Given the description of an element on the screen output the (x, y) to click on. 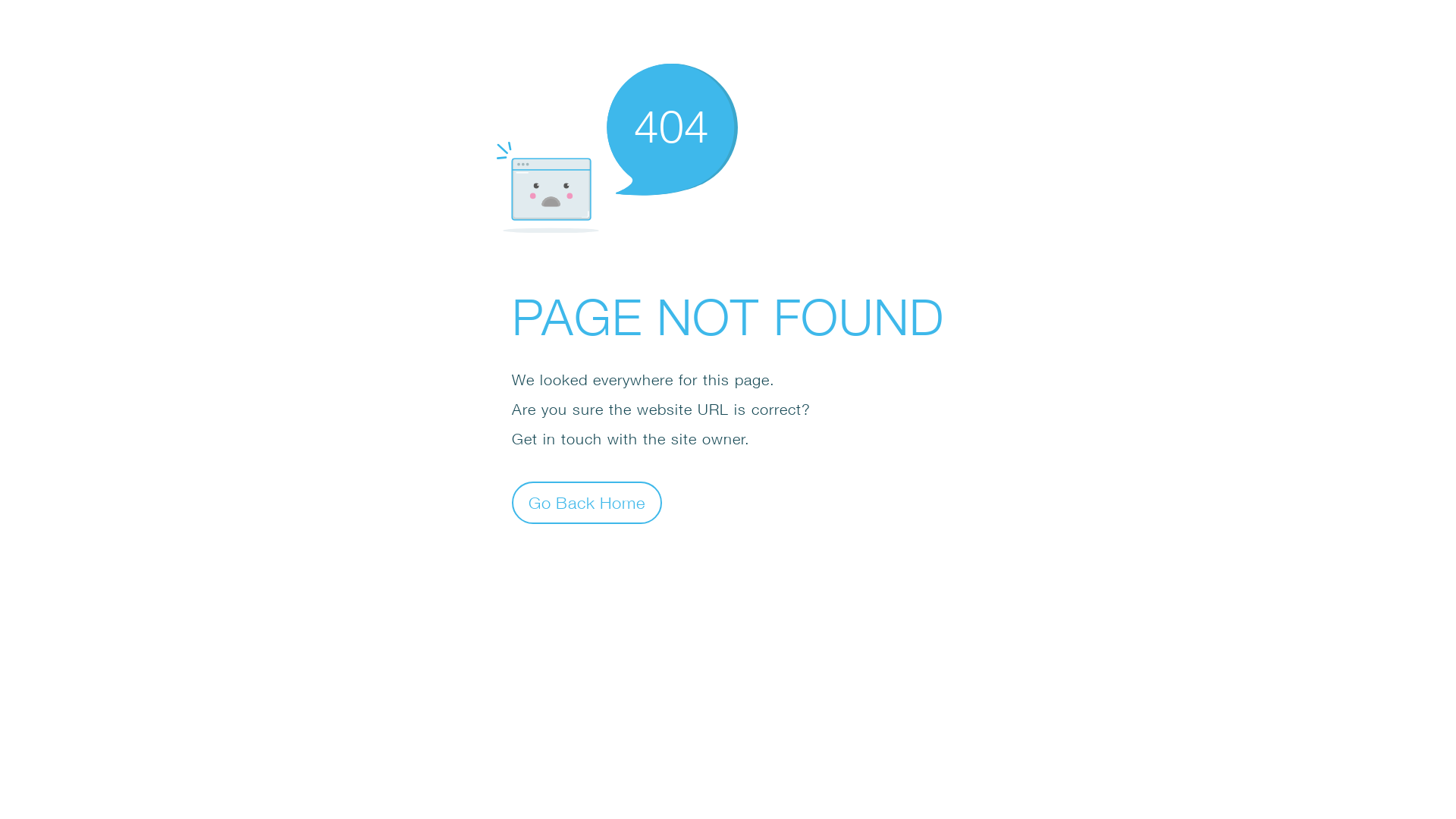
Go Back Home Element type: text (586, 502)
